Given the description of an element on the screen output the (x, y) to click on. 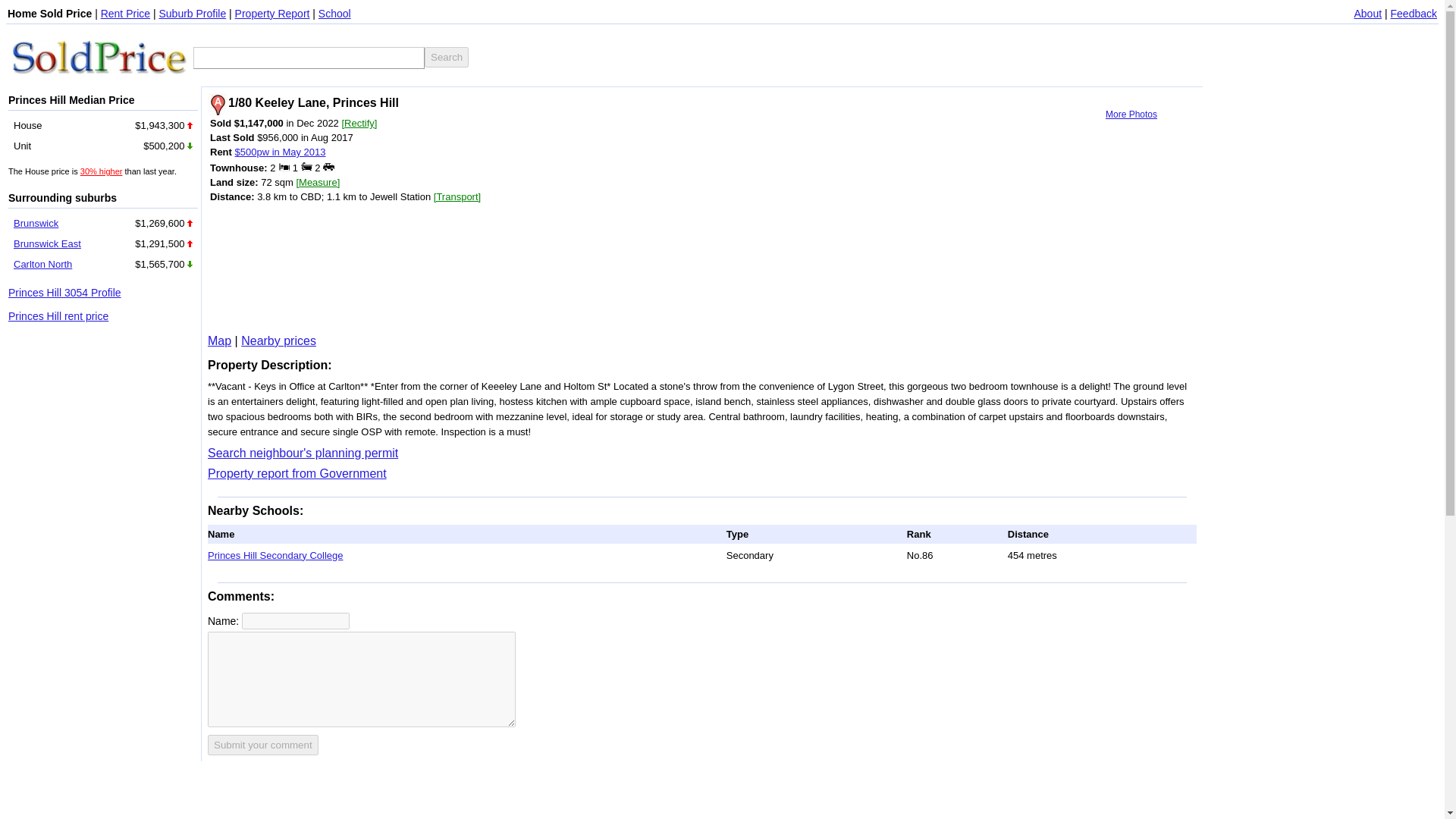
Advertisement (433, 267)
Submit your comment (263, 744)
Rent Price (124, 13)
Car spaces (328, 165)
Princes Hill rent price (57, 316)
Brunswick East (47, 243)
View median house price history data (101, 171)
Search nearby house sold prices (278, 340)
Princes Hill 3054 Profile (64, 292)
Princes Hill Secondary College (275, 554)
Go to Home Page (99, 56)
Brunswick (35, 223)
Nearby prices (278, 340)
Advertisement (657, 56)
Search (446, 56)
